Given the description of an element on the screen output the (x, y) to click on. 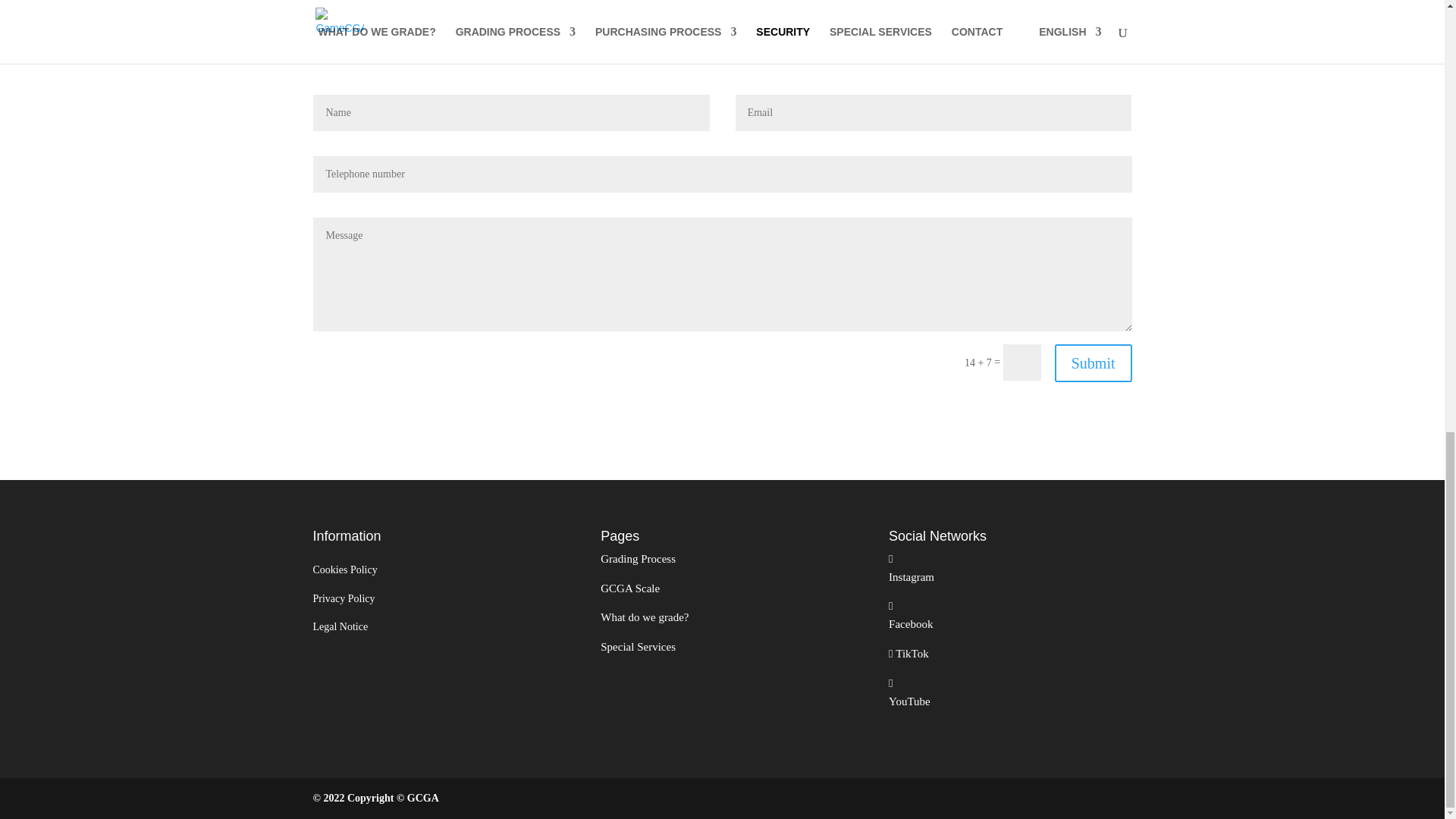
TikTok (910, 653)
GCGA Scale (629, 588)
Facebook (910, 633)
Privacy Policy (343, 598)
Instagram (911, 585)
Legal Notice (340, 626)
Special Services (637, 646)
Submit (1093, 362)
What do we grade? (643, 616)
YouTube (909, 710)
Cookies Policy (345, 569)
Grading Process (637, 558)
